Given the description of an element on the screen output the (x, y) to click on. 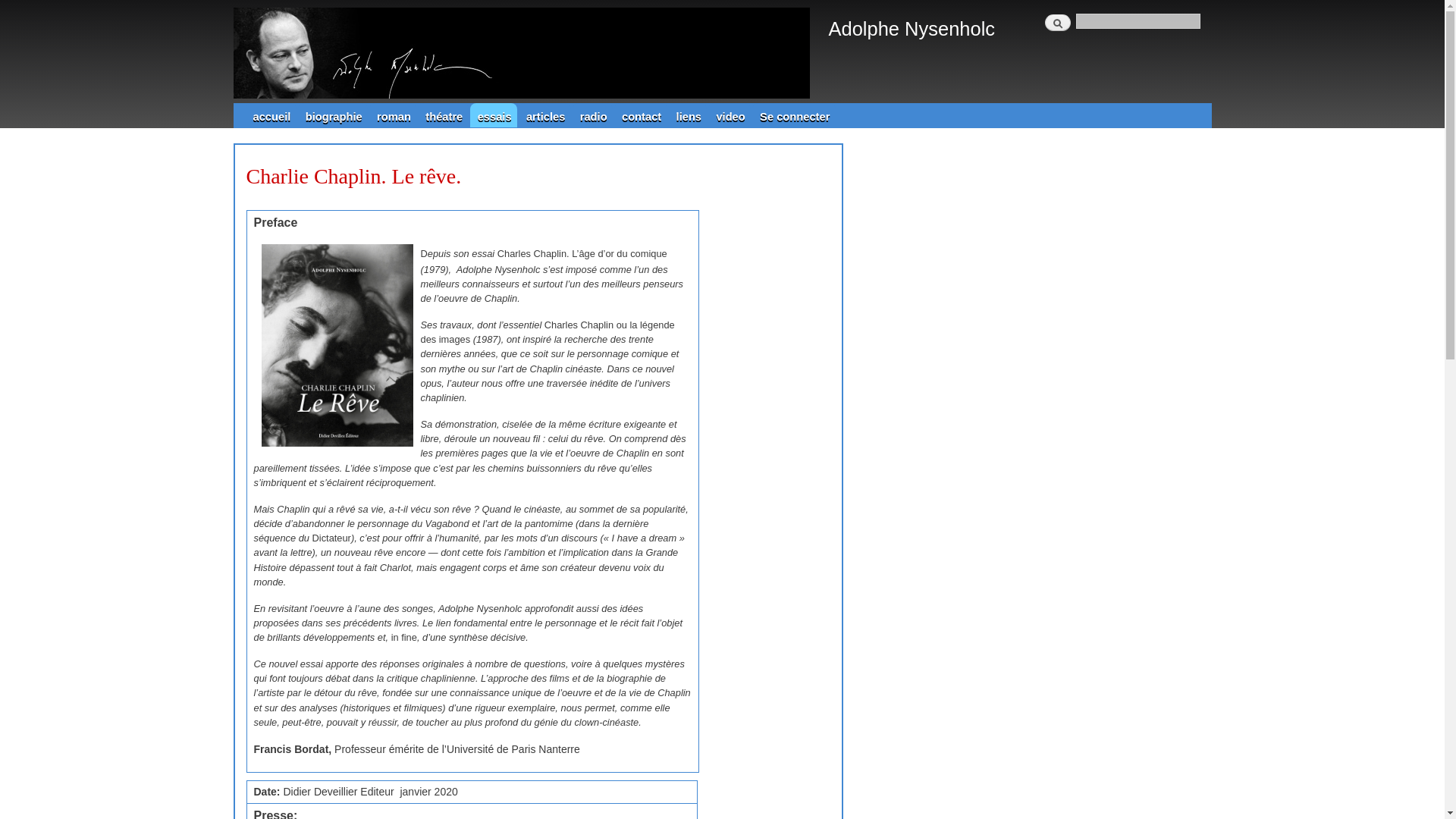
roman Element type: text (392, 115)
radio Element type: text (592, 115)
articles Element type: text (544, 115)
video Element type: text (729, 115)
Adolphe Nysenholc Element type: text (911, 28)
essais Element type: text (493, 115)
biographie Element type: text (332, 115)
Se connecter Element type: text (793, 115)
accueil Element type: text (270, 115)
Accueil Element type: hover (525, 51)
Aller au contenu principal Element type: text (692, 1)
Rechercher Element type: text (1057, 22)
contact Element type: text (640, 115)
liens Element type: text (687, 115)
